Given the description of an element on the screen output the (x, y) to click on. 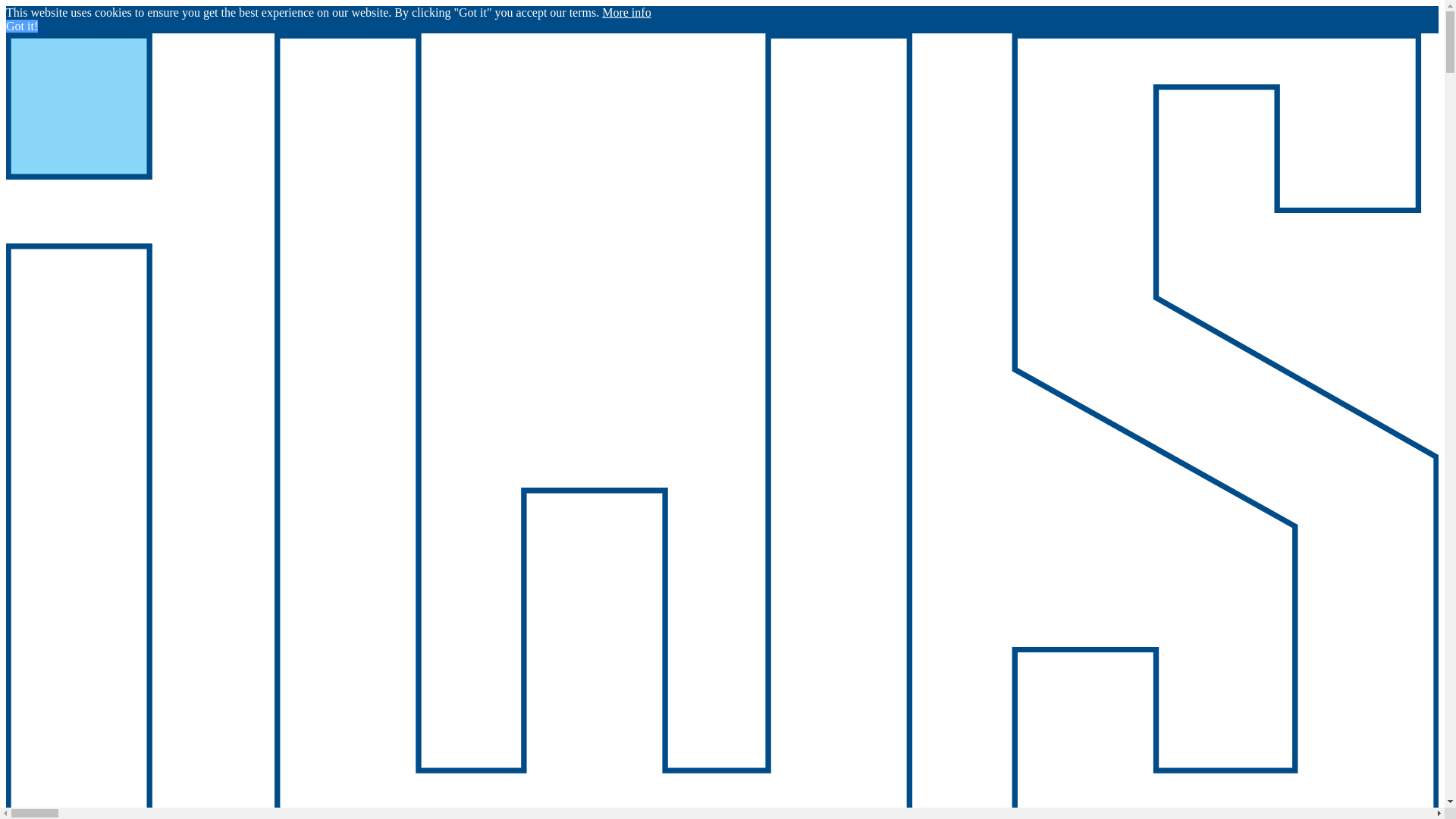
Got it! (21, 25)
More info (626, 11)
